Given the description of an element on the screen output the (x, y) to click on. 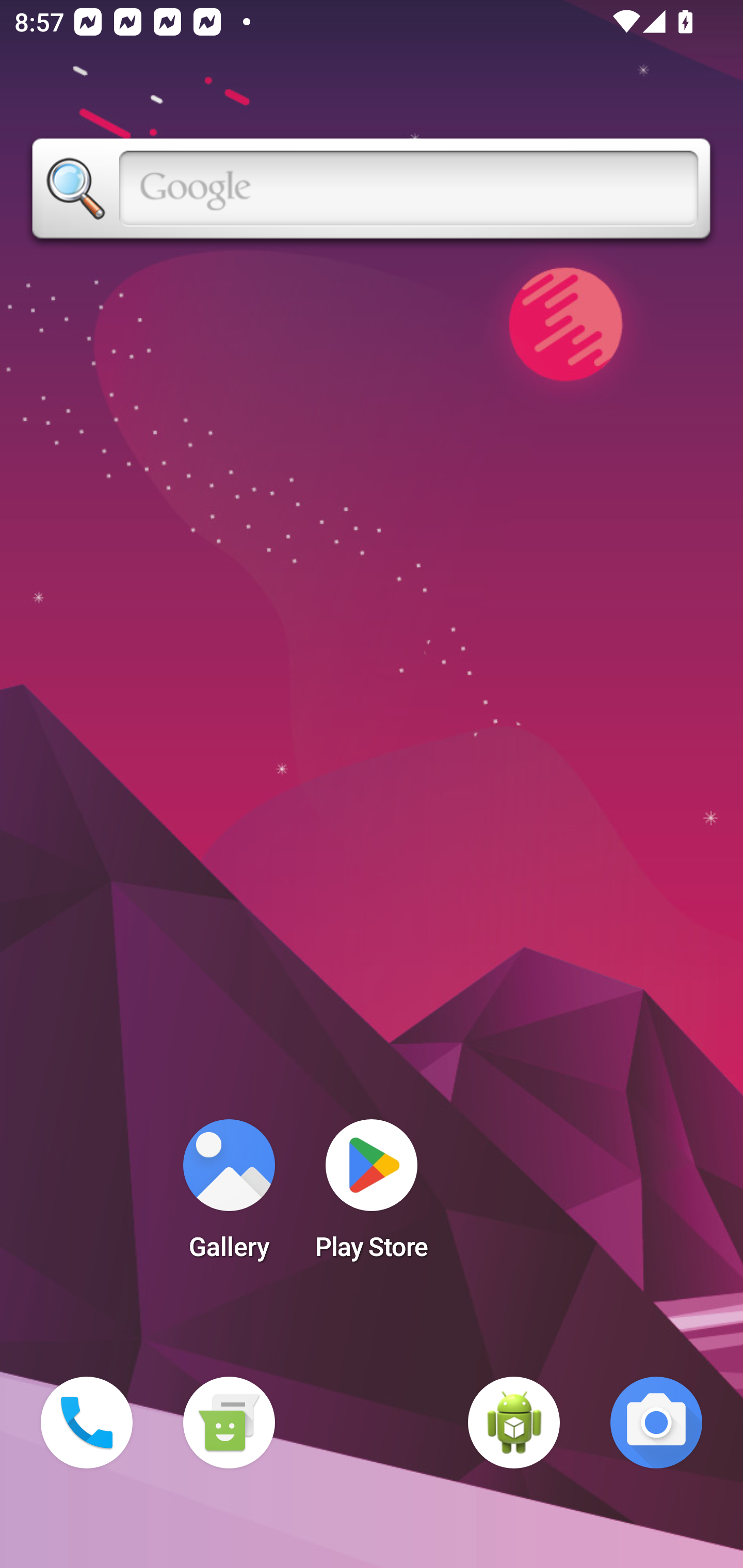
Gallery (228, 1195)
Play Store (371, 1195)
Phone (86, 1422)
Messaging (228, 1422)
WebView Browser Tester (513, 1422)
Camera (656, 1422)
